Given the description of an element on the screen output the (x, y) to click on. 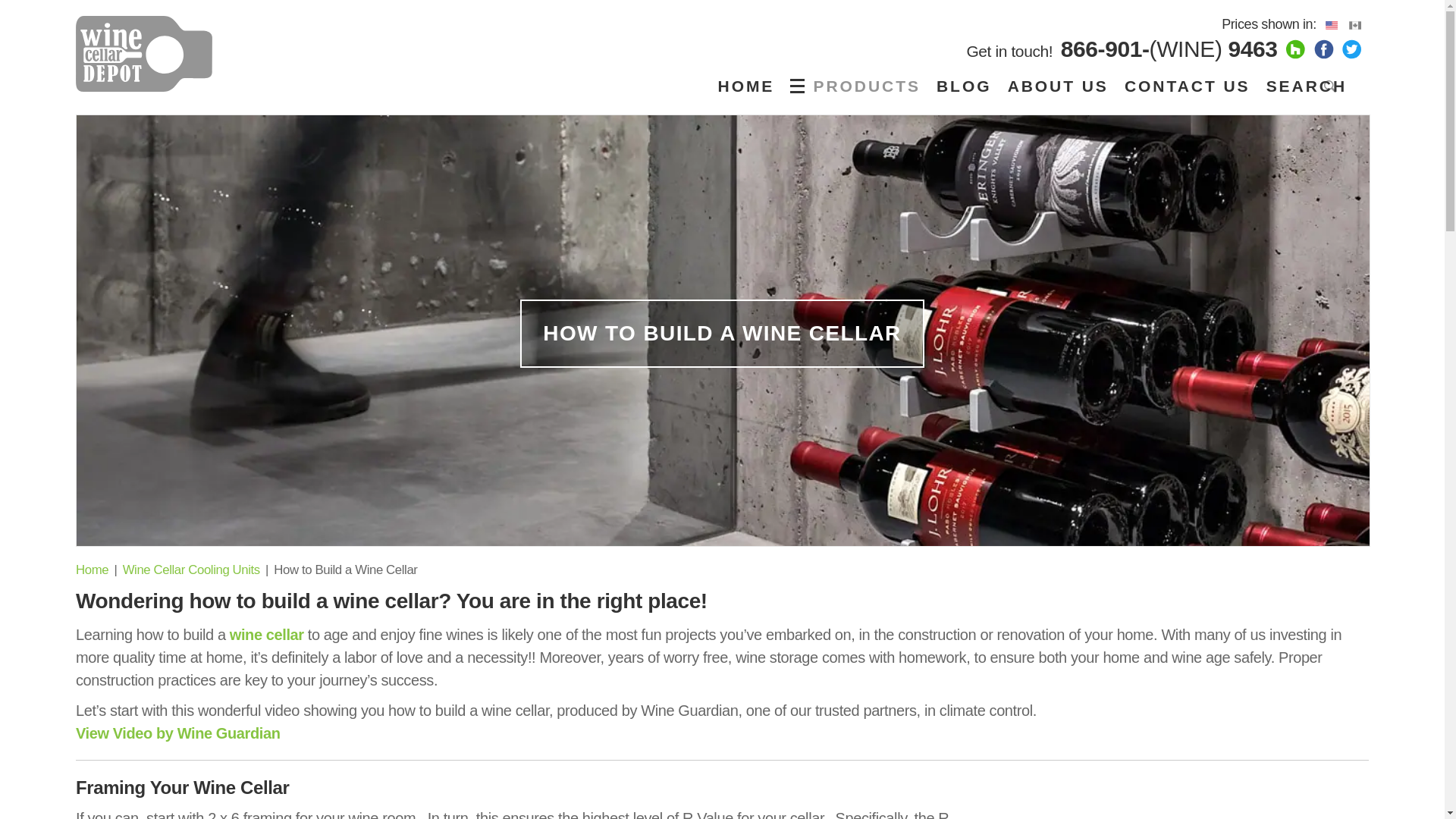
How to Build a Wine Cellar 2 (1179, 816)
View Video by Wine Guardian (177, 733)
wine cellar (267, 634)
ABOUT US (1058, 85)
HOME (745, 85)
Home (91, 569)
BLOG (963, 85)
PRODUCTS (858, 85)
SEARCH (1311, 85)
CONTACT US (1187, 85)
